Given the description of an element on the screen output the (x, y) to click on. 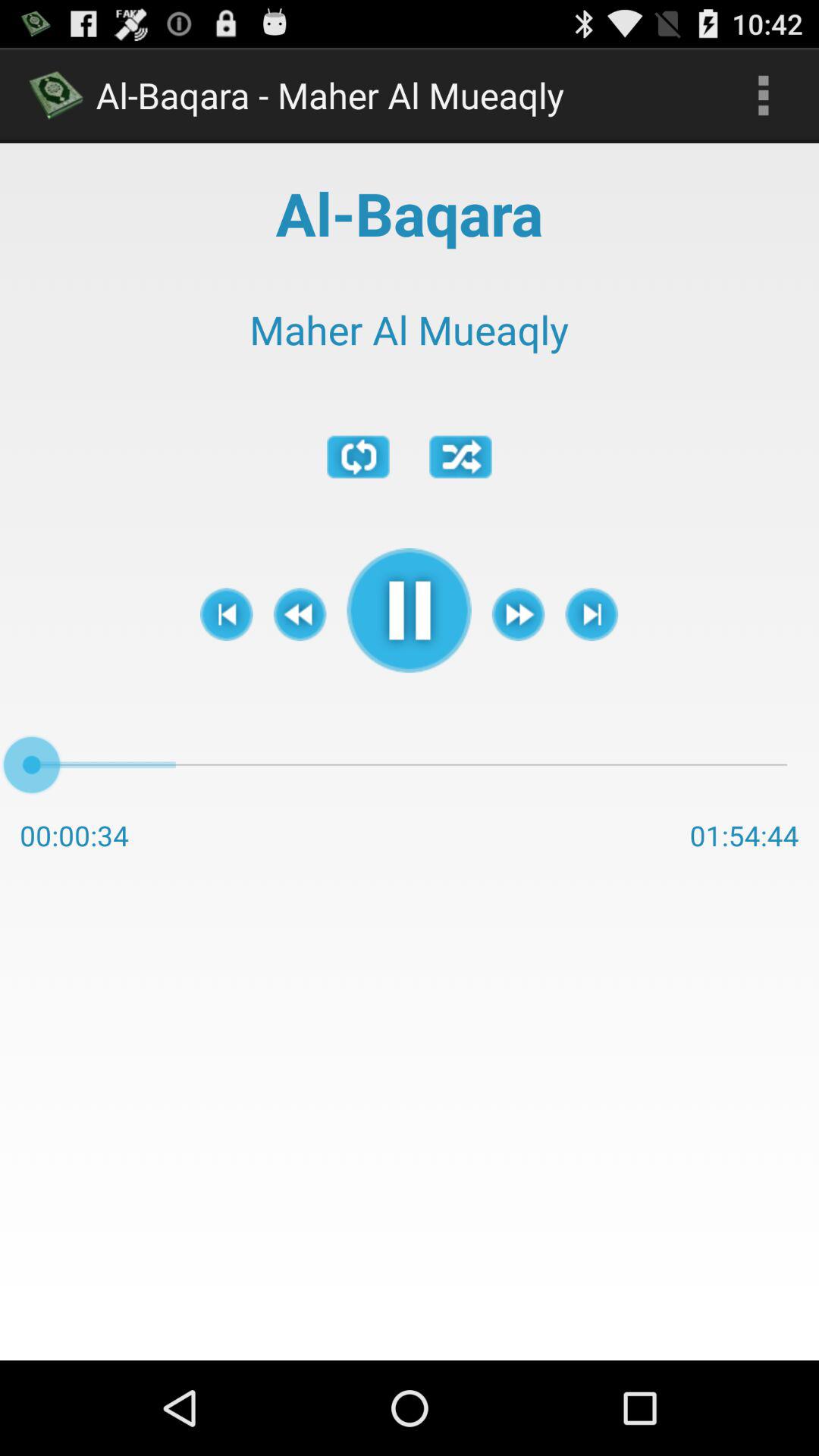
tap app below maher al mueaqly app (460, 456)
